Given the description of an element on the screen output the (x, y) to click on. 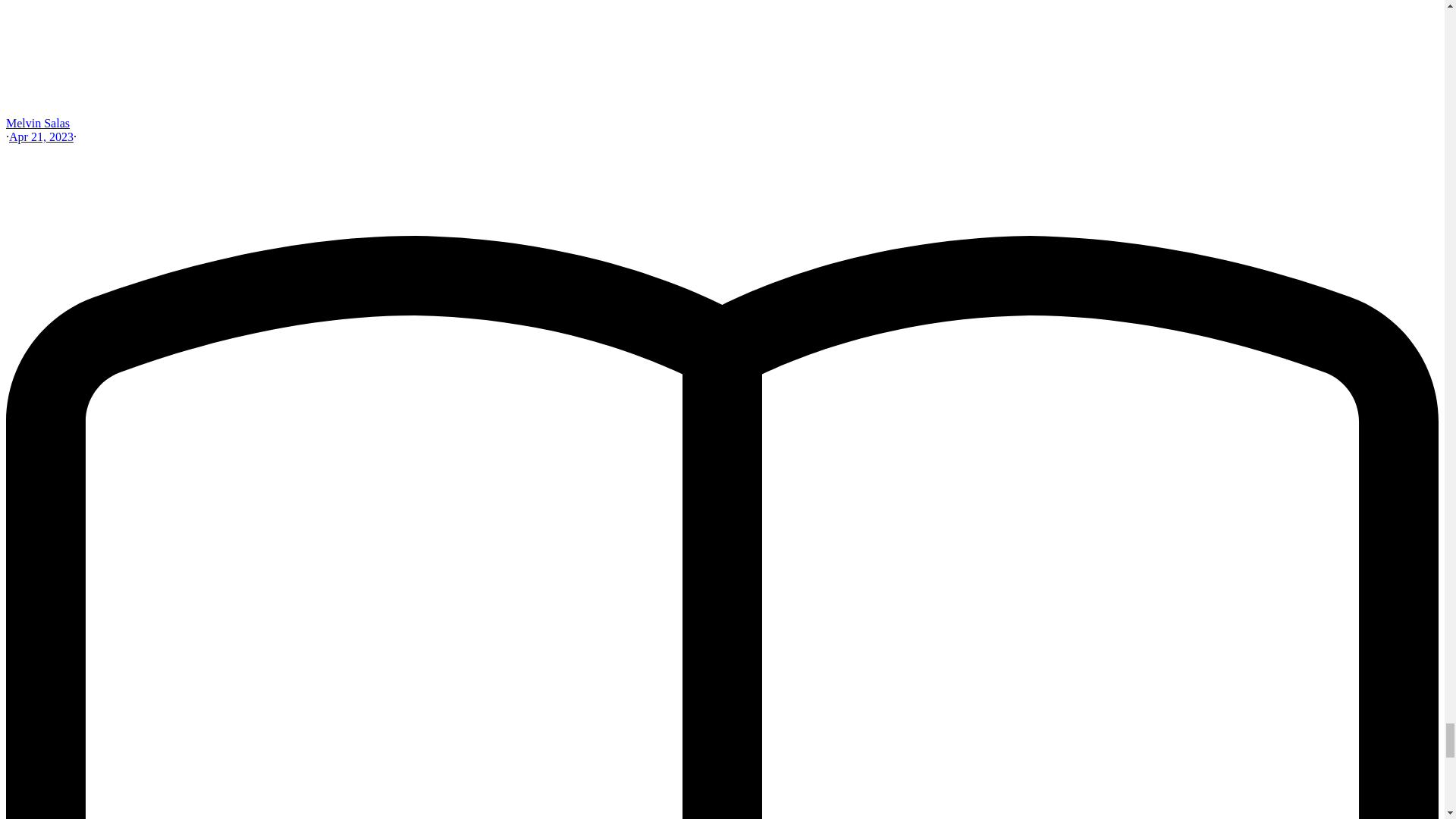
Apr 21, 2023 (41, 136)
Melvin Salas (37, 123)
